Given the description of an element on the screen output the (x, y) to click on. 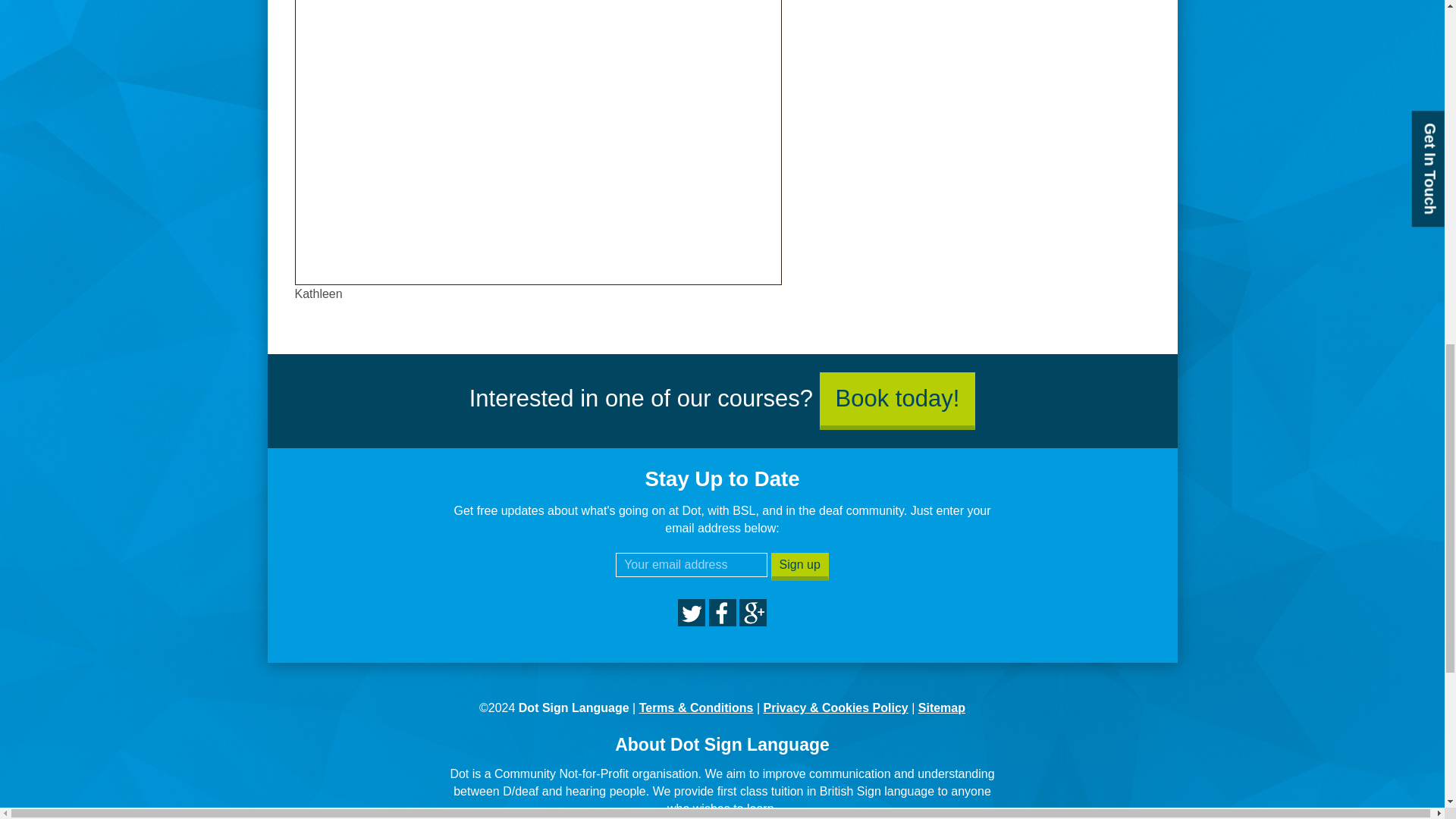
Sitemap (941, 707)
Interested in one of our courses? Book today! (721, 397)
Dot Miles Bio Video (537, 138)
Sign up (799, 566)
Sign up (799, 566)
